Given the description of an element on the screen output the (x, y) to click on. 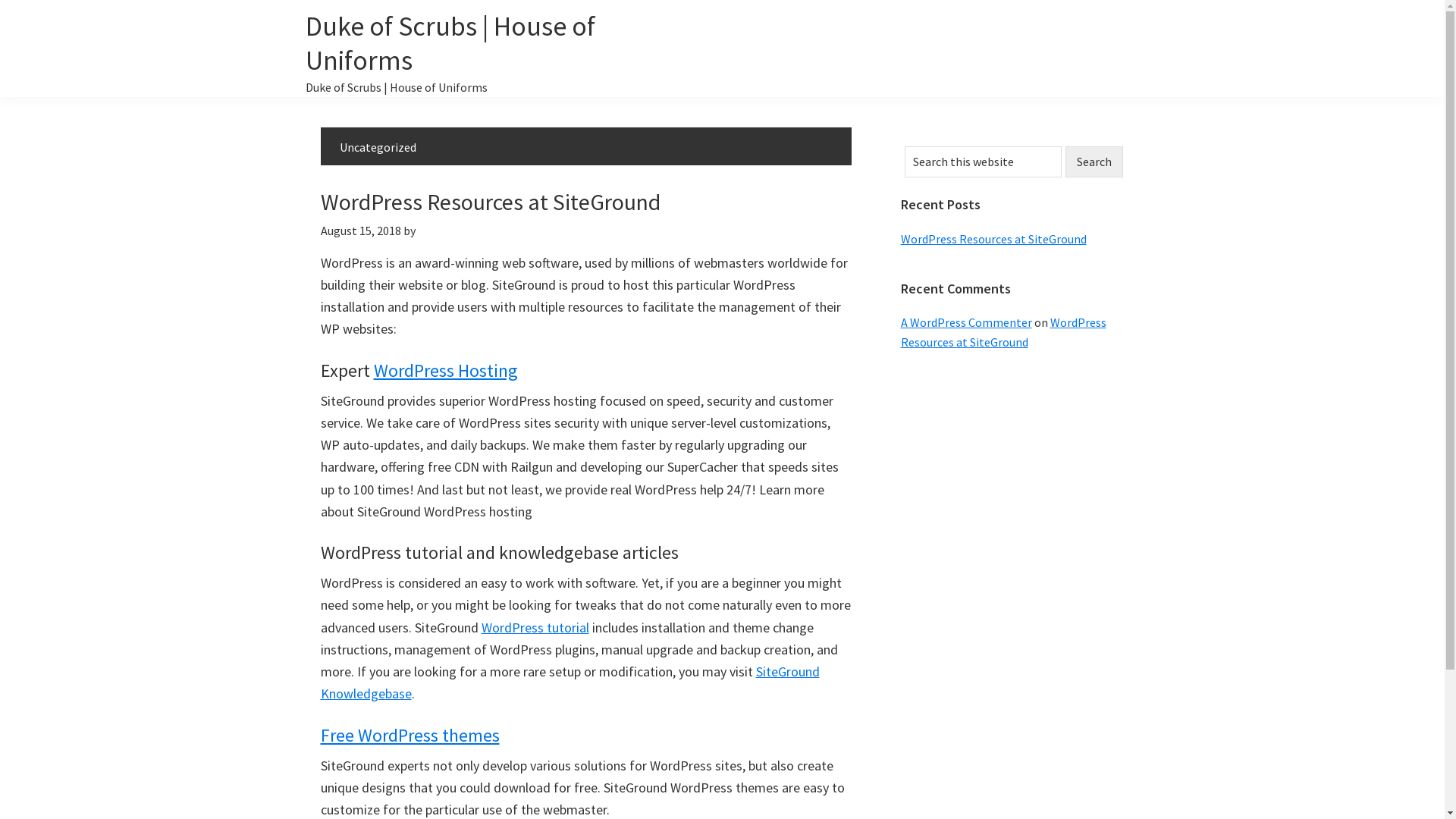
Skip to primary navigation Element type: text (0, 0)
A WordPress Commenter Element type: text (966, 321)
Duke of Scrubs | House of Uniforms Element type: text (449, 43)
Search Element type: text (1093, 161)
SiteGround Knowledgebase Element type: text (569, 682)
WordPress tutorial Element type: text (534, 627)
WordPress Resources at SiteGround Element type: text (489, 201)
WordPress Hosting Element type: text (445, 369)
Free WordPress themes Element type: text (409, 734)
WordPress Resources at SiteGround Element type: text (993, 237)
WordPress Resources at SiteGround Element type: text (1003, 331)
